Given the description of an element on the screen output the (x, y) to click on. 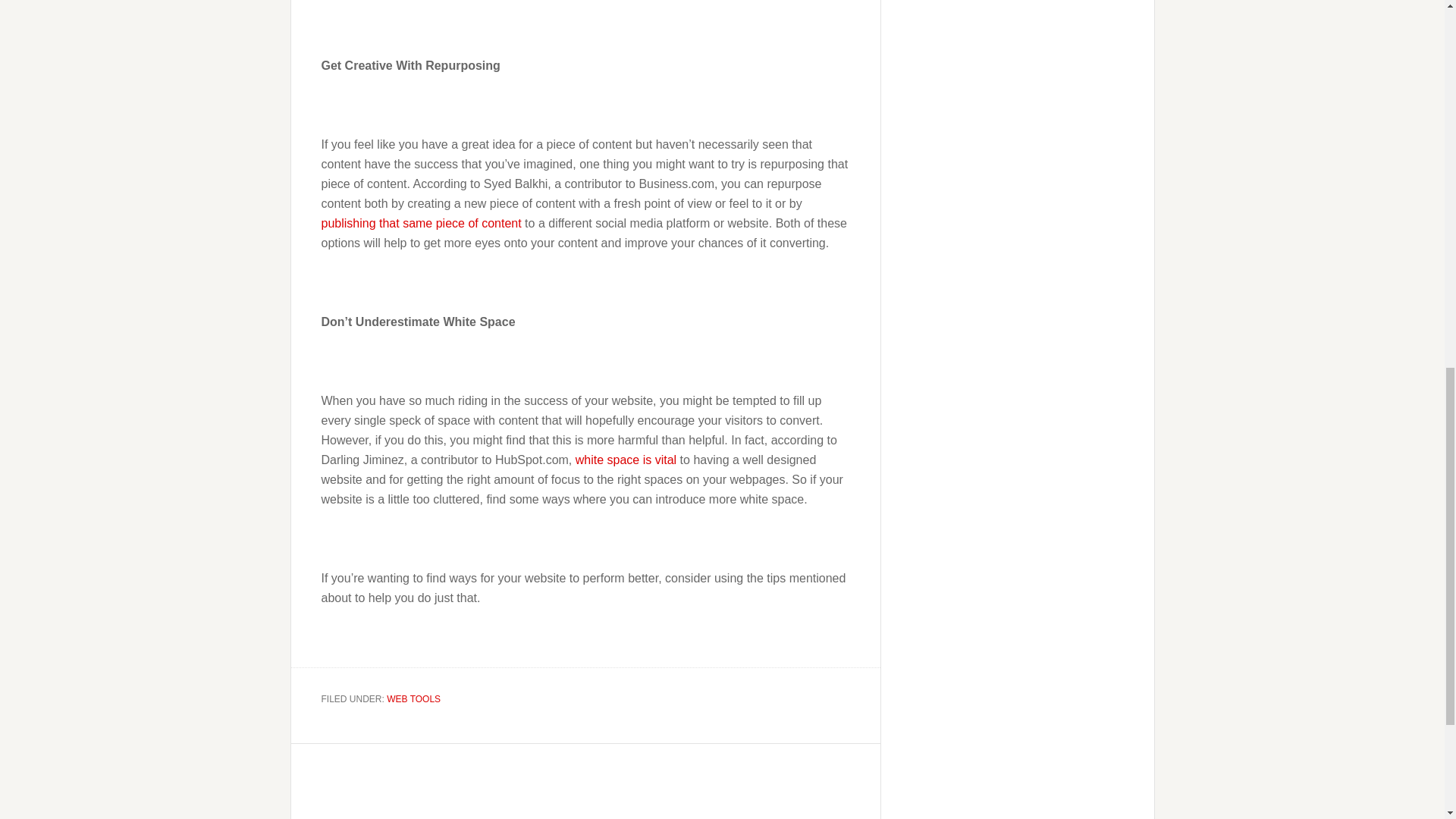
WEB TOOLS (414, 697)
publishing that same piece of content (421, 223)
white space is vital (626, 459)
